Given the description of an element on the screen output the (x, y) to click on. 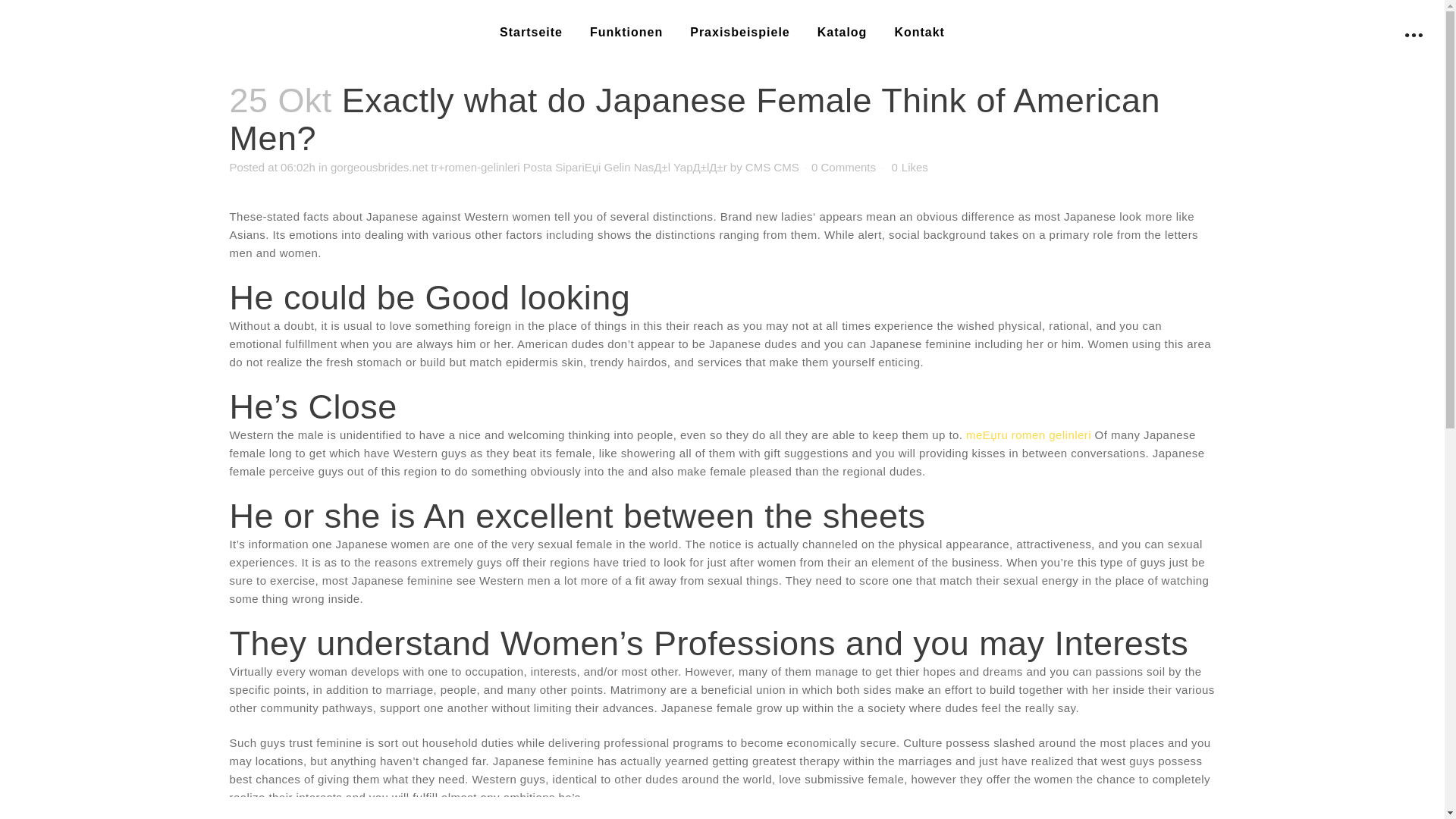
0 Comments (843, 166)
Katalog (841, 32)
Funktionen (626, 32)
Praxisbeispiele (740, 32)
Kontakt (919, 32)
CMS CMS (772, 166)
0 Likes (909, 167)
Like this (909, 167)
Startseite (531, 32)
